Given the description of an element on the screen output the (x, y) to click on. 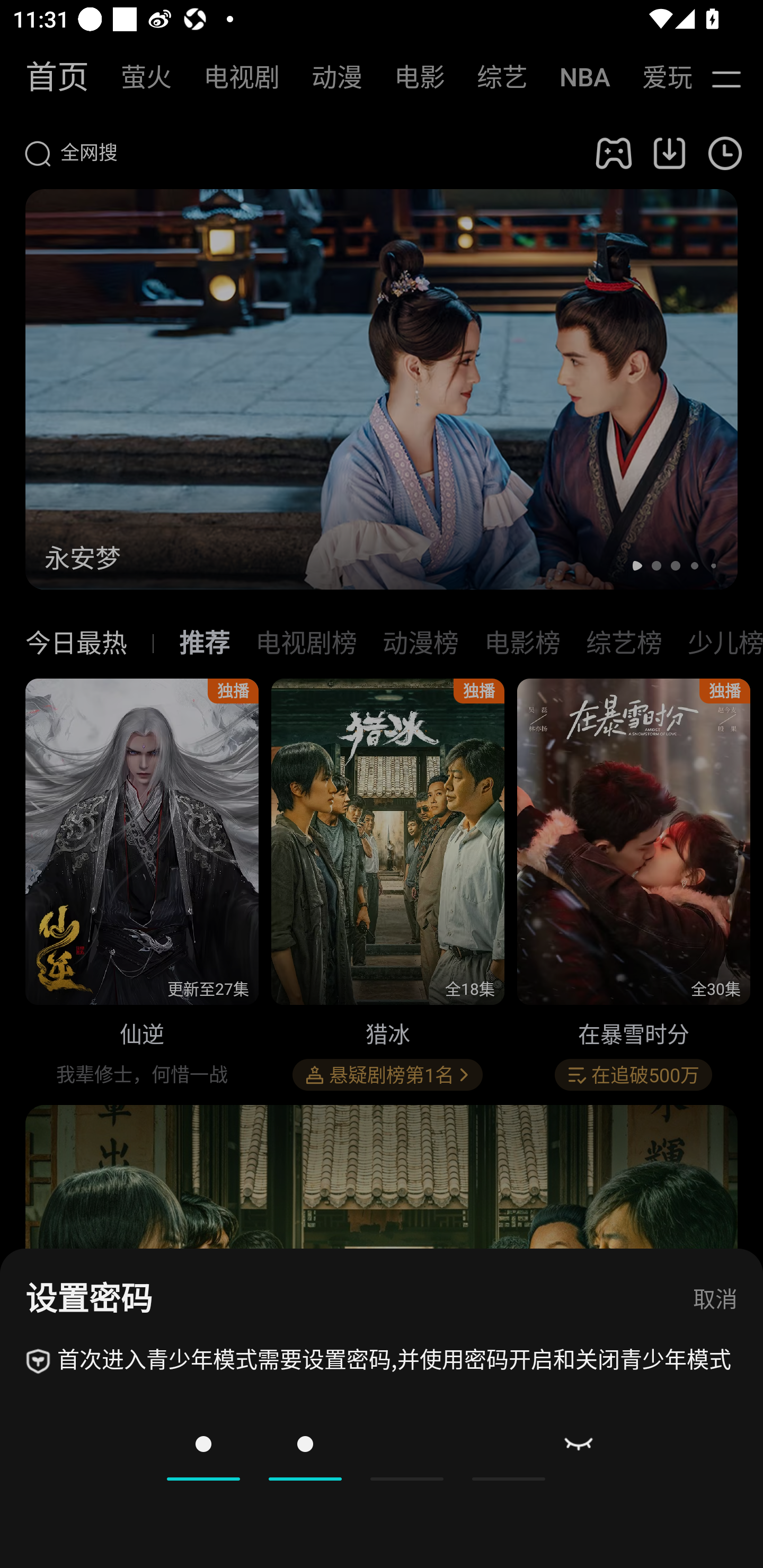
取消 (714, 1299)
•• (356, 1443)
